Given the description of an element on the screen output the (x, y) to click on. 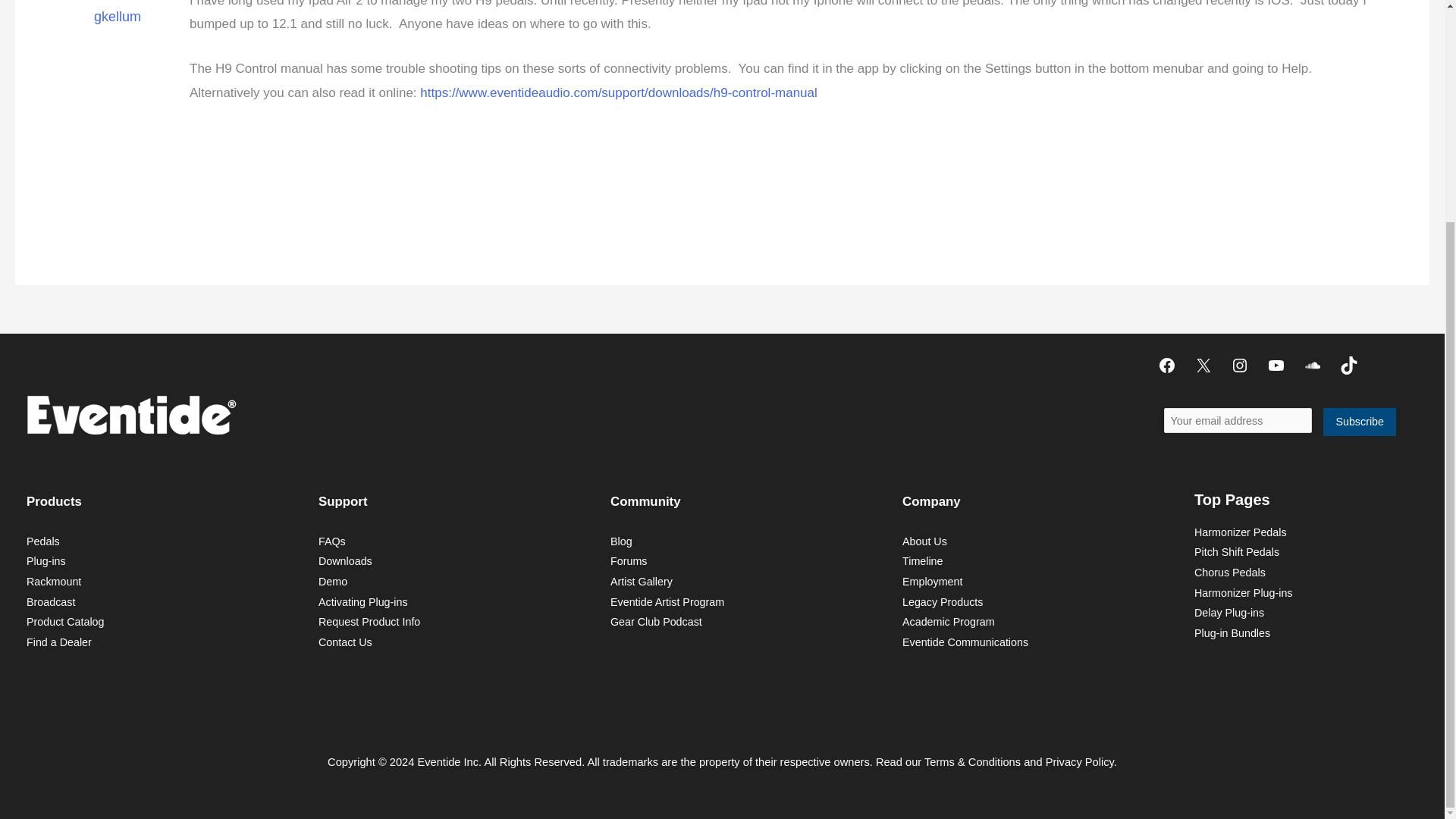
View gkellum's profile (117, 15)
eventide-logo-white (130, 414)
Subscribe (1359, 421)
